Given the description of an element on the screen output the (x, y) to click on. 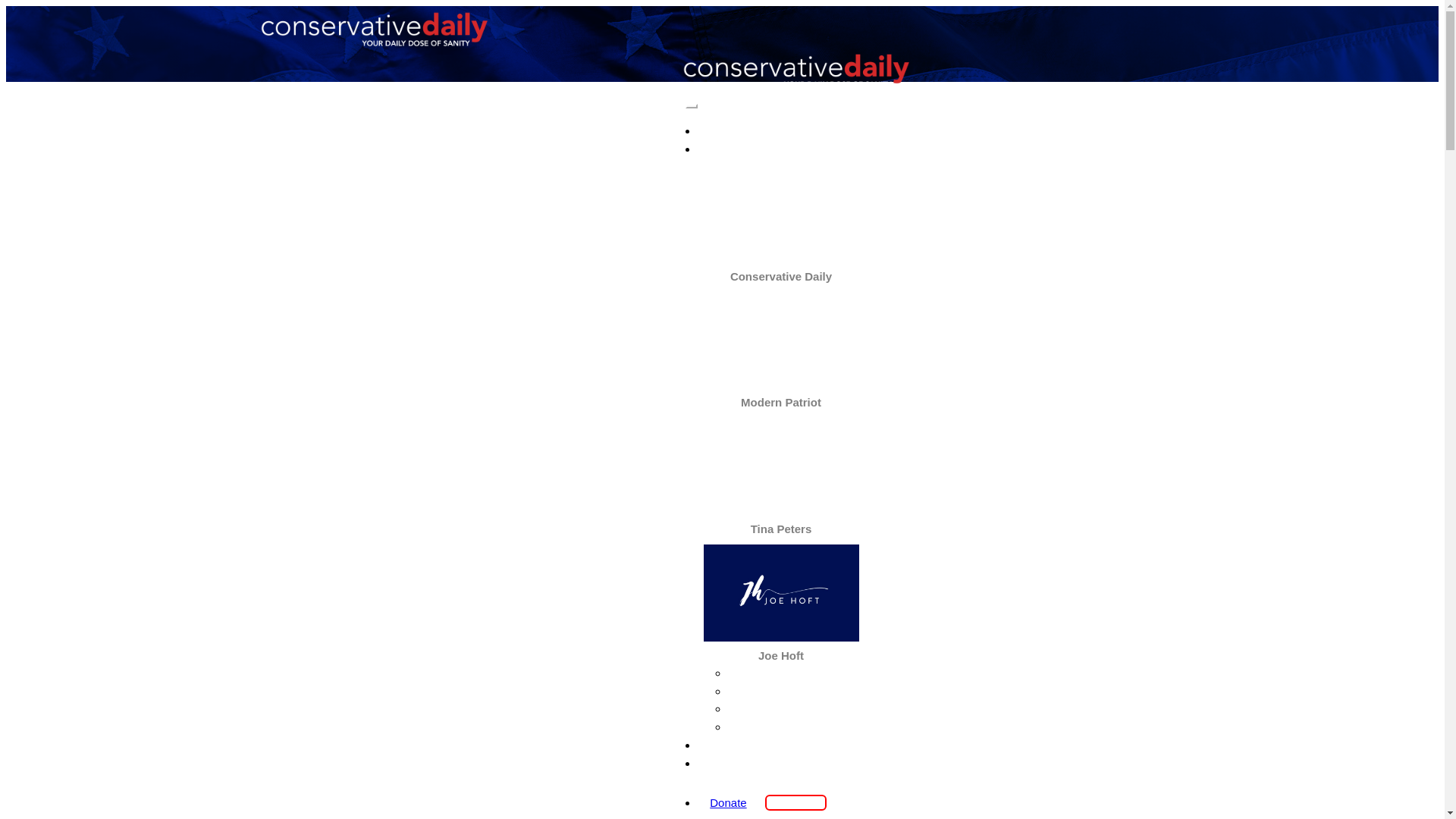
Contact (780, 745)
Tina Peters (795, 708)
Modern Patriot (796, 691)
Donate (727, 802)
Conservative Daily (780, 276)
Conservative Daily (796, 672)
Get Involved (781, 763)
News (780, 130)
Joe Hoft (796, 726)
Joe Hoft (780, 655)
Podcasts (780, 149)
Tina Peters (781, 528)
Modern Patriot (781, 401)
